Given the description of an element on the screen output the (x, y) to click on. 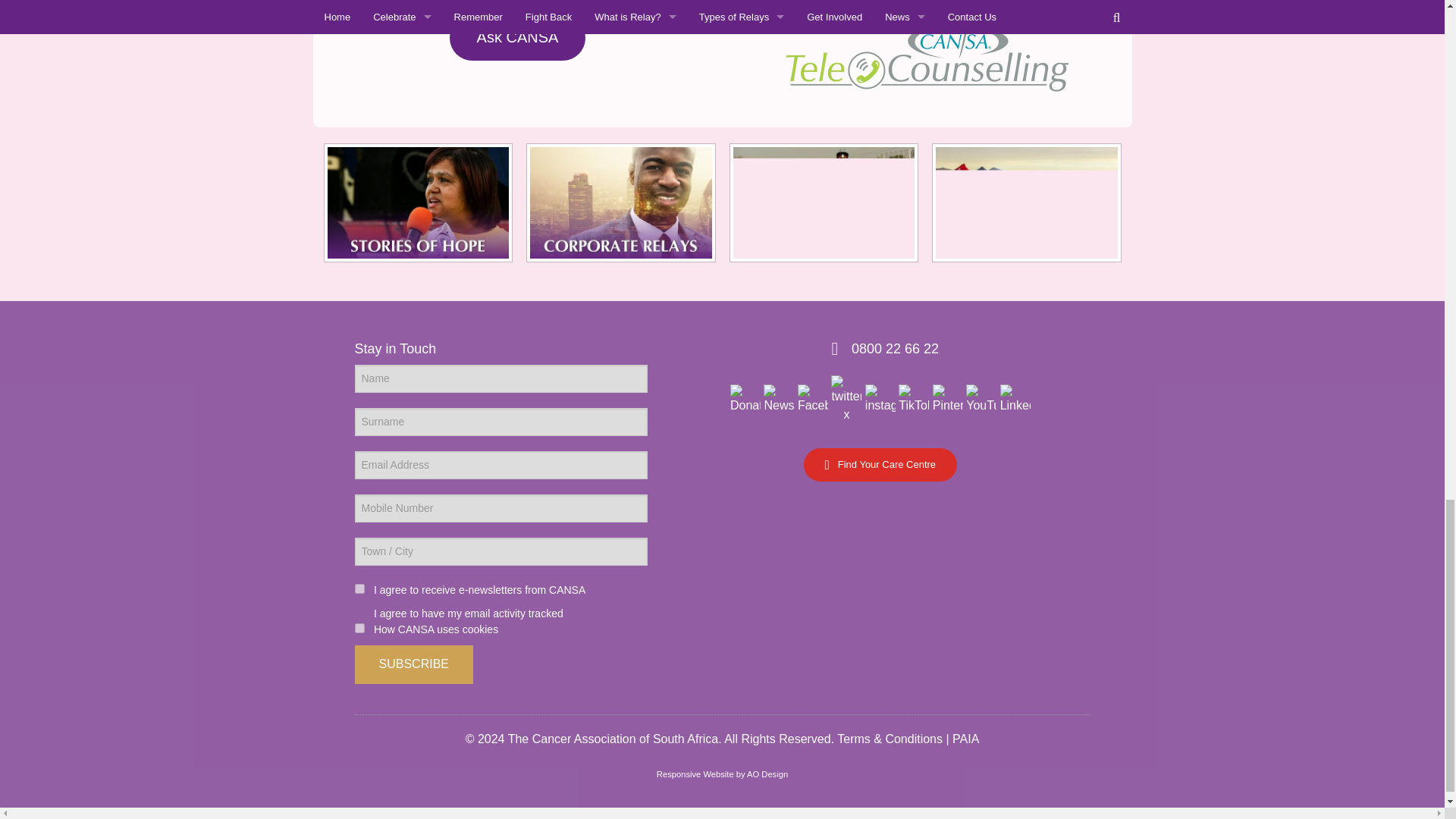
LinkedIn (1015, 398)
Subscribe to Our eNewsletter (777, 398)
CANSA on YouTube (980, 398)
Like Our Facebook Page (812, 398)
on (360, 588)
on (360, 628)
CANSA on TikTok (913, 398)
Donate to support the fight against cancer (745, 398)
Pin it! (947, 398)
Follow on twitter (846, 398)
CANSA on Instagram (879, 398)
